Given the description of an element on the screen output the (x, y) to click on. 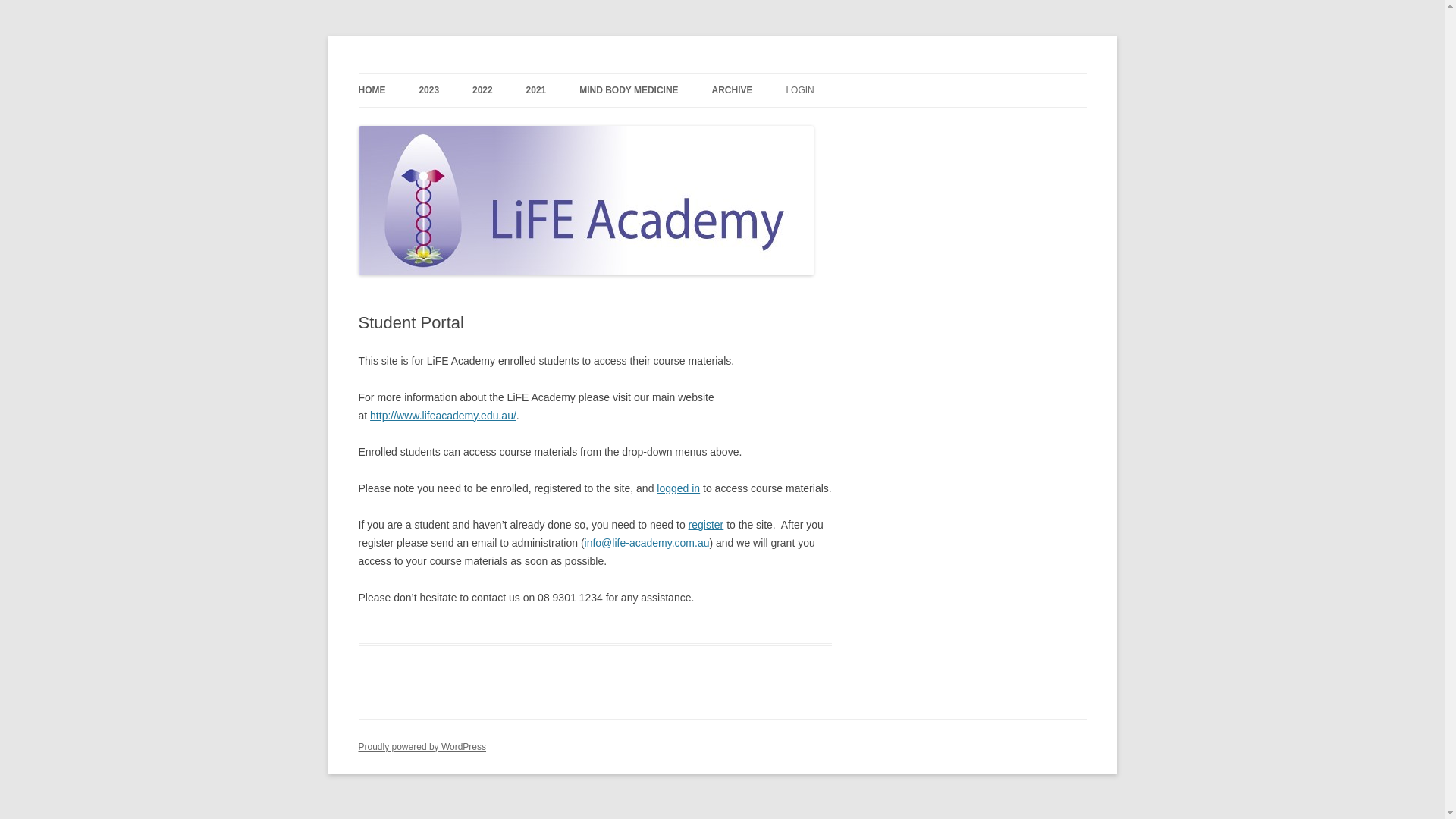
Proudly powered by WordPress Element type: text (421, 746)
LOGIN Element type: text (799, 89)
2023 CERT IV IN MENTAL HEALTH Element type: text (494, 122)
Life Academy Student Portal Element type: text (491, 72)
2021 DIPLOMA OF MENTAL HEALTH Element type: text (601, 131)
2021 Element type: text (536, 89)
2022 CERT IV & DIPLOMA IN MENTAL HEALTH Element type: text (548, 131)
register Element type: text (706, 524)
2023 Element type: text (428, 89)
HOME Element type: text (371, 89)
info@life-academy.com.au Element type: text (646, 542)
Skip to content Element type: text (721, 72)
2022 Element type: text (482, 89)
MIND BODY MEDICINE Element type: text (655, 122)
ARCHIVE Element type: text (732, 89)
http://www.lifeacademy.edu.au/ Element type: text (443, 415)
logged in Element type: text (677, 488)
CERT IV SUBJECTS Element type: text (787, 122)
MIND BODY MEDICINE Element type: text (628, 89)
